Given the description of an element on the screen output the (x, y) to click on. 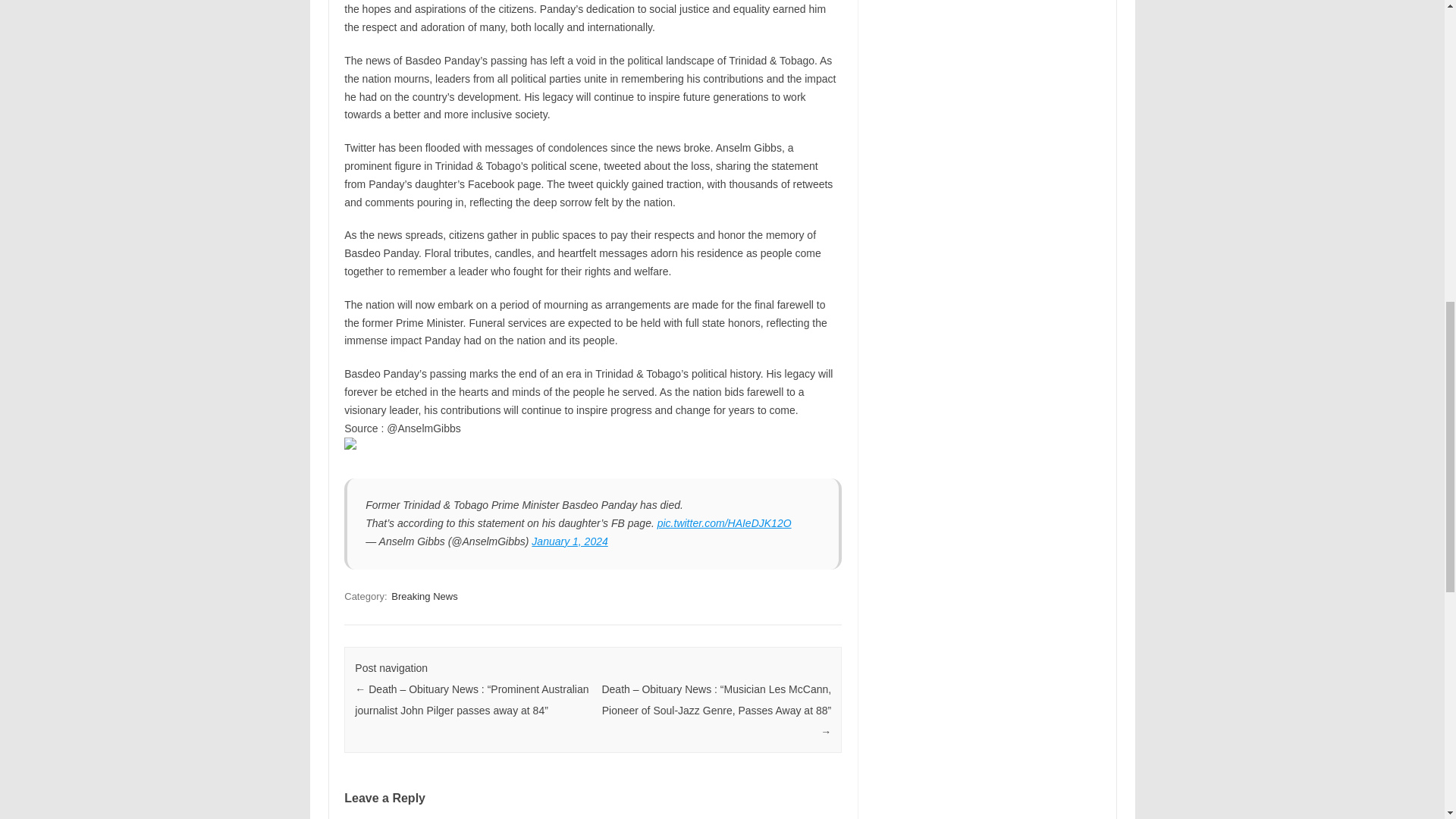
Breaking News (424, 595)
January 1, 2024 (569, 541)
